Given the description of an element on the screen output the (x, y) to click on. 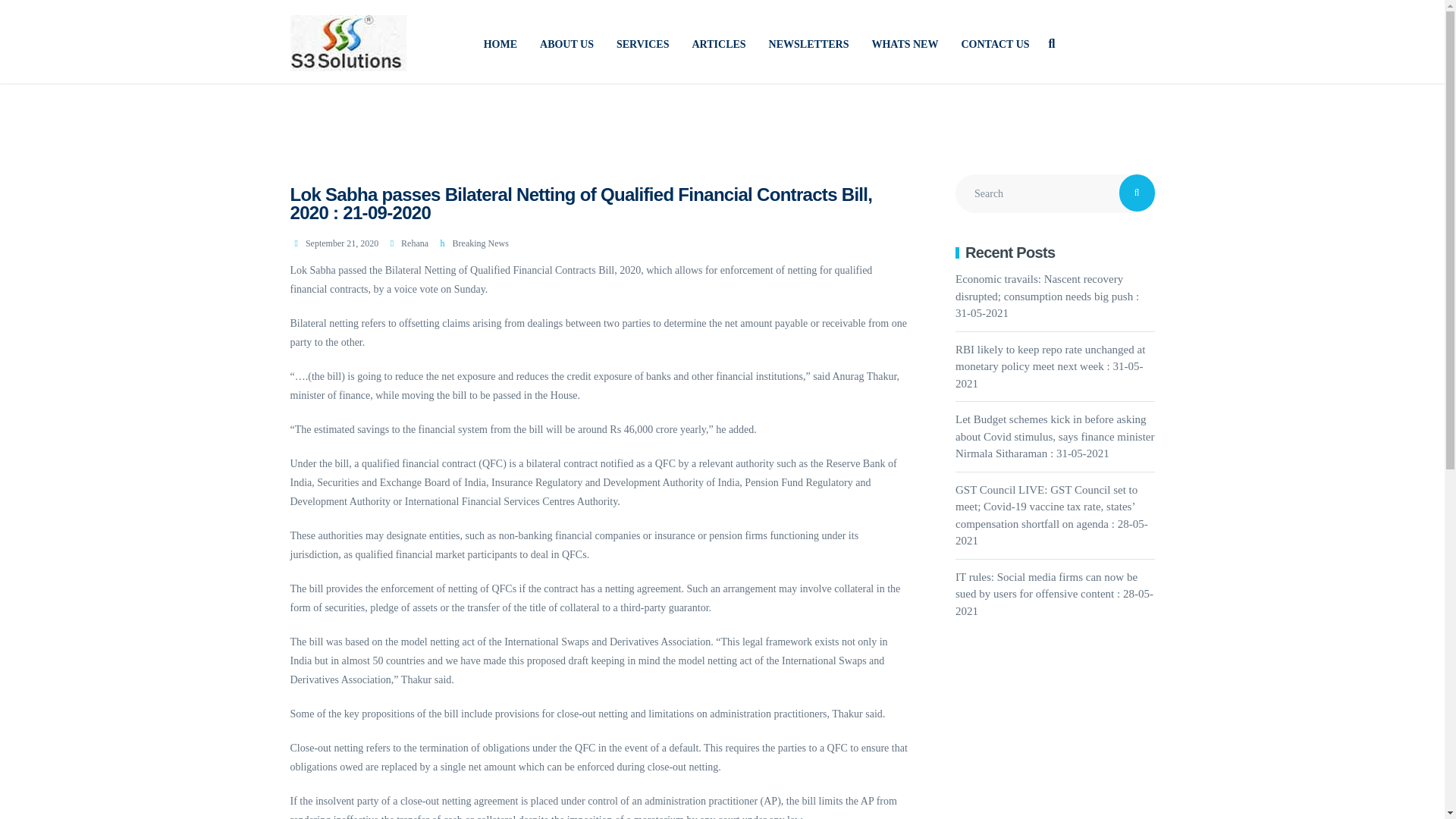
SERVICES (643, 44)
HOME (499, 44)
S3 solutions (499, 44)
NEWSLETTERS (808, 44)
WHATS NEW (904, 44)
ARTICLES (719, 44)
ABOUT US (566, 44)
